Given the description of an element on the screen output the (x, y) to click on. 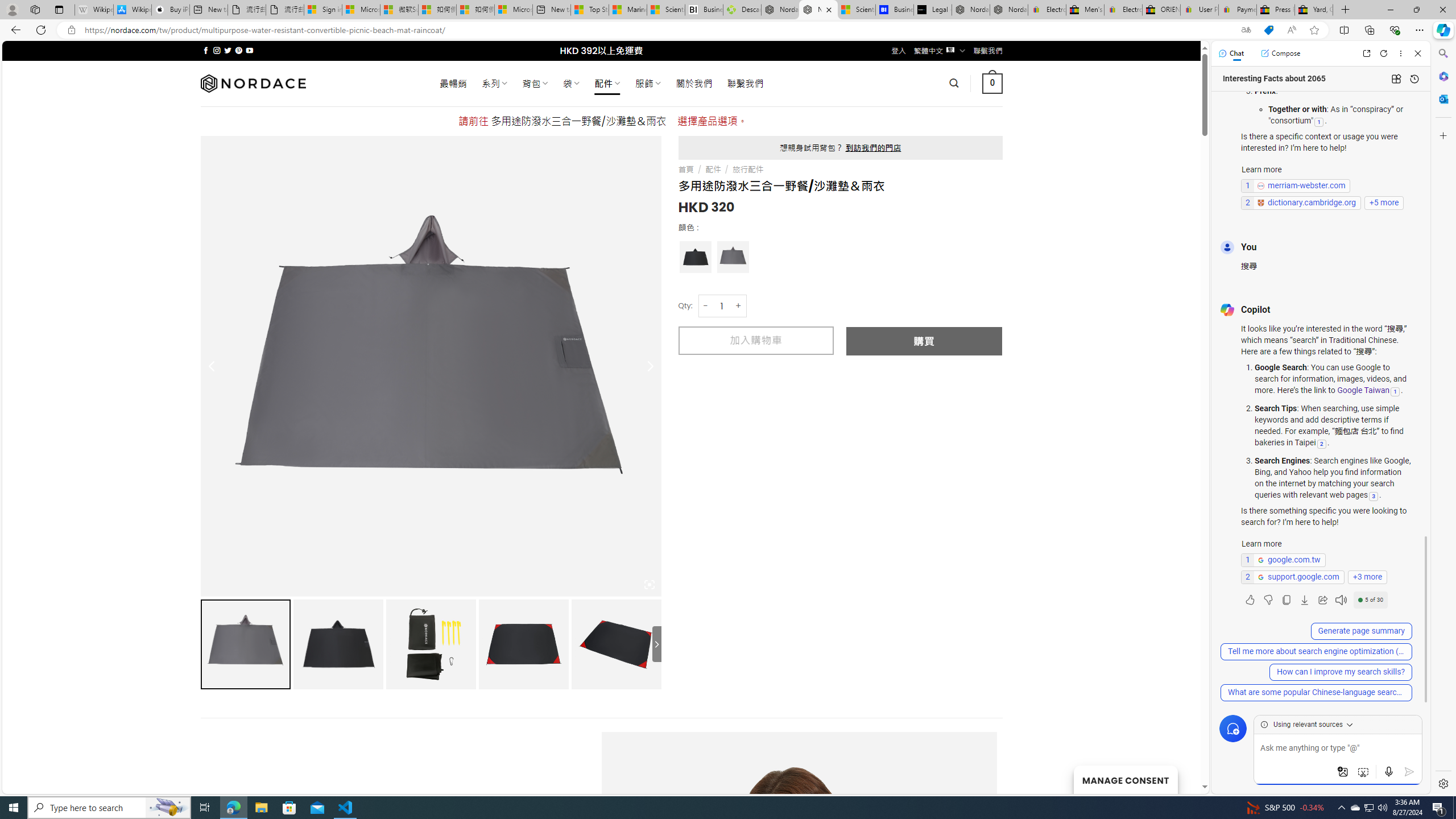
Follow on Twitter (227, 50)
